Given the description of an element on the screen output the (x, y) to click on. 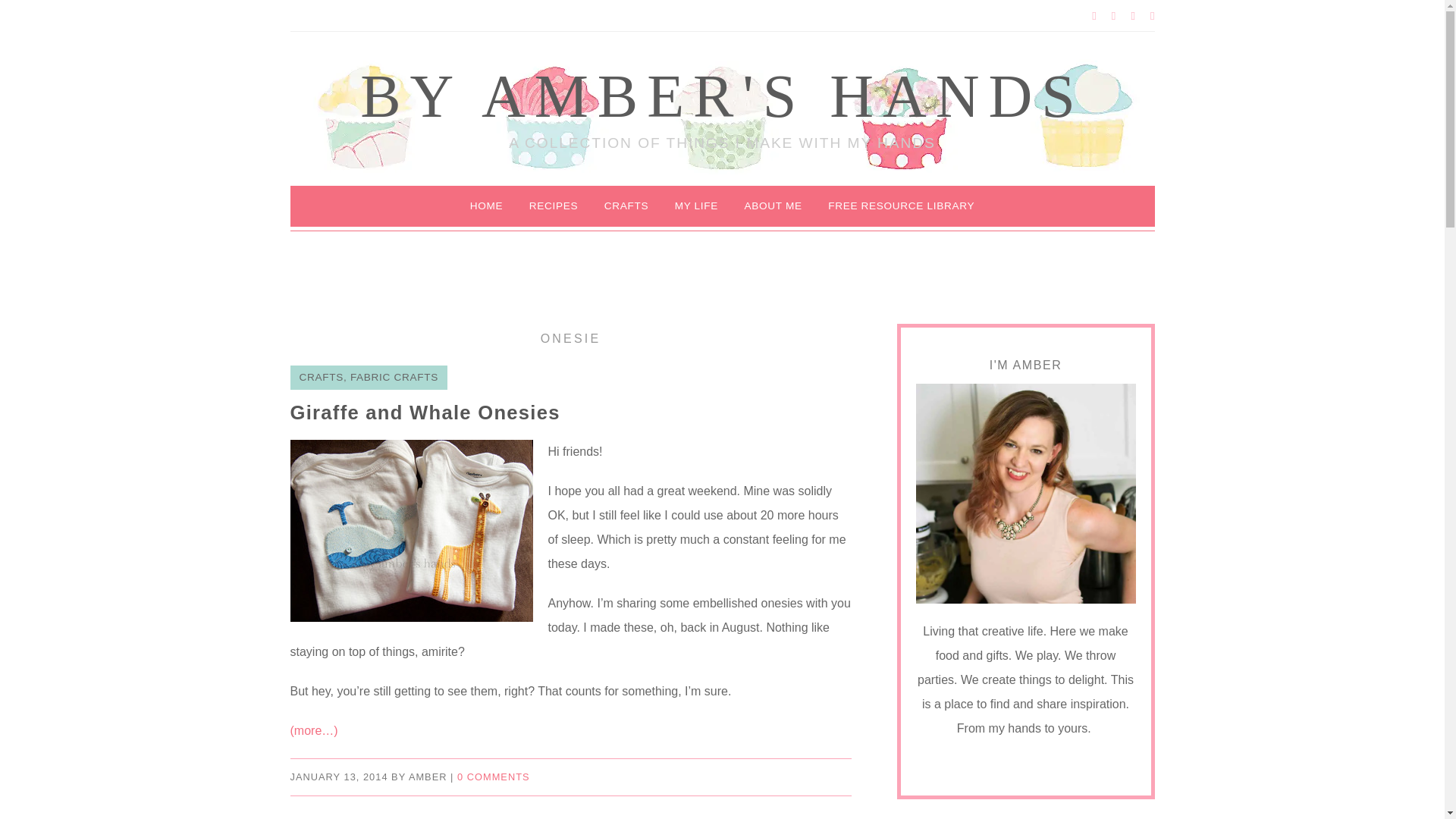
FABRIC CRAFTS (394, 377)
HOME (486, 205)
MY LIFE (696, 205)
RECIPES (553, 205)
ABOUT ME (772, 205)
CRAFTS (320, 377)
0 COMMENTS (493, 776)
CRAFTS (625, 205)
BY AMBER'S HANDS (721, 96)
FREE RESOURCE LIBRARY (900, 205)
